Given the description of an element on the screen output the (x, y) to click on. 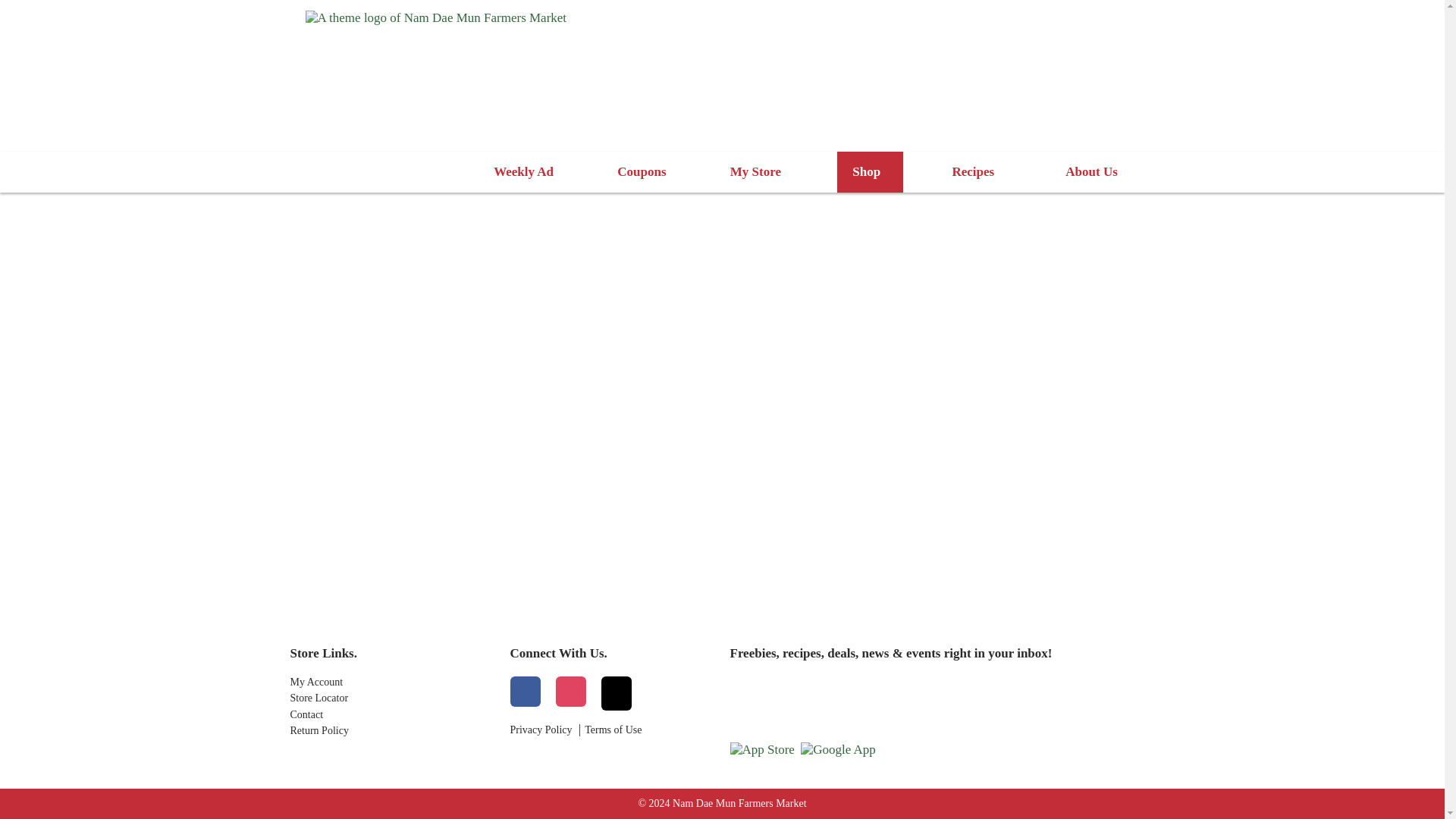
Facebook (524, 693)
Recipes (976, 171)
Contact (392, 715)
Weekly Ad (524, 171)
My Account (392, 682)
Privacy Policy (540, 729)
instagram (569, 693)
Tiktok (614, 693)
Return Policy (392, 730)
About Us (1094, 171)
My Store (758, 171)
Shop (869, 171)
Coupons (641, 171)
Store Locator (392, 698)
Terms of Use (613, 729)
